Given the description of an element on the screen output the (x, y) to click on. 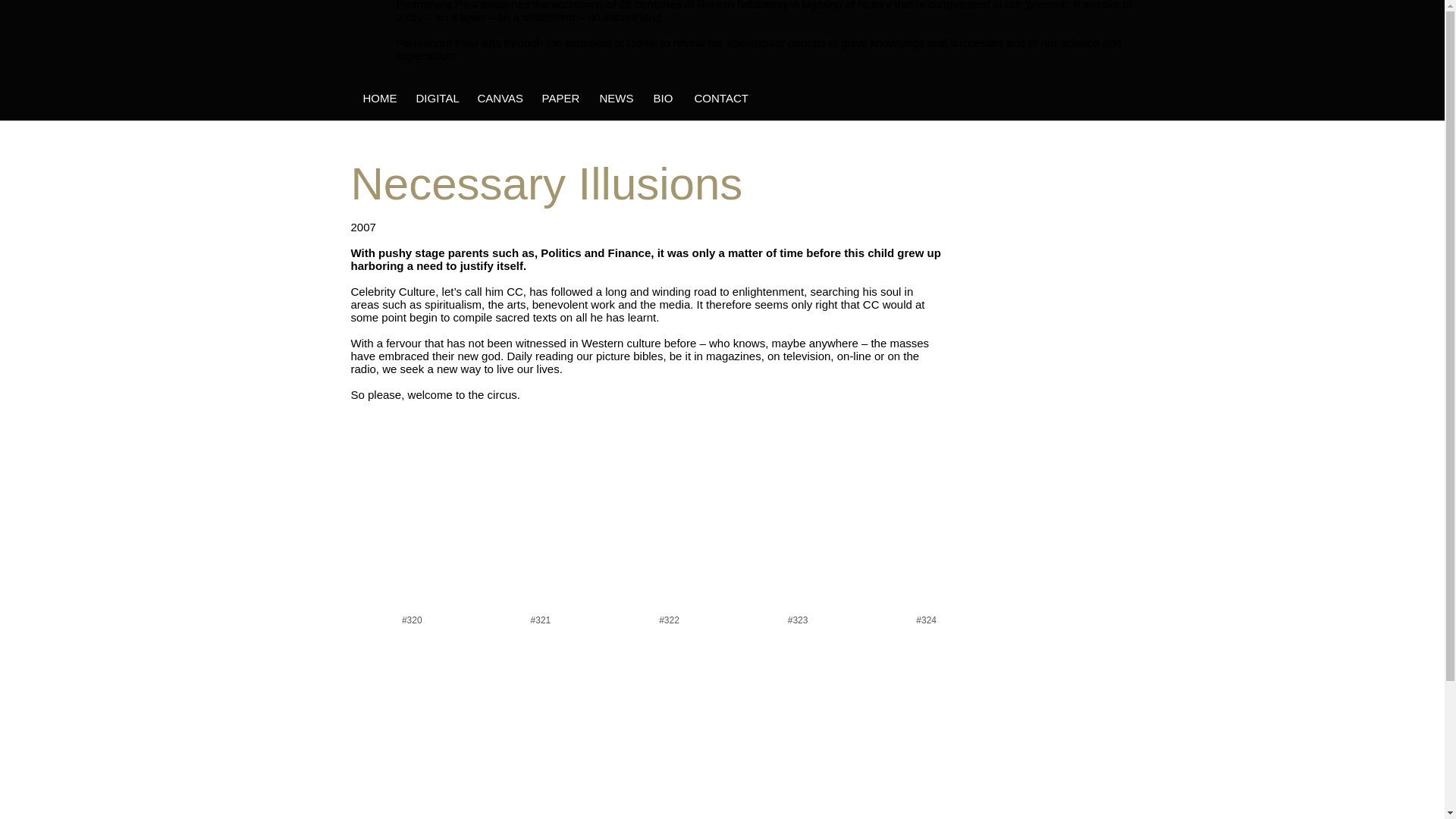
PAPER (557, 98)
BIO (662, 98)
DIGITAL (433, 98)
NEWS (613, 98)
CONTACT (716, 98)
CANVAS (497, 98)
HOME (376, 98)
